Given the description of an element on the screen output the (x, y) to click on. 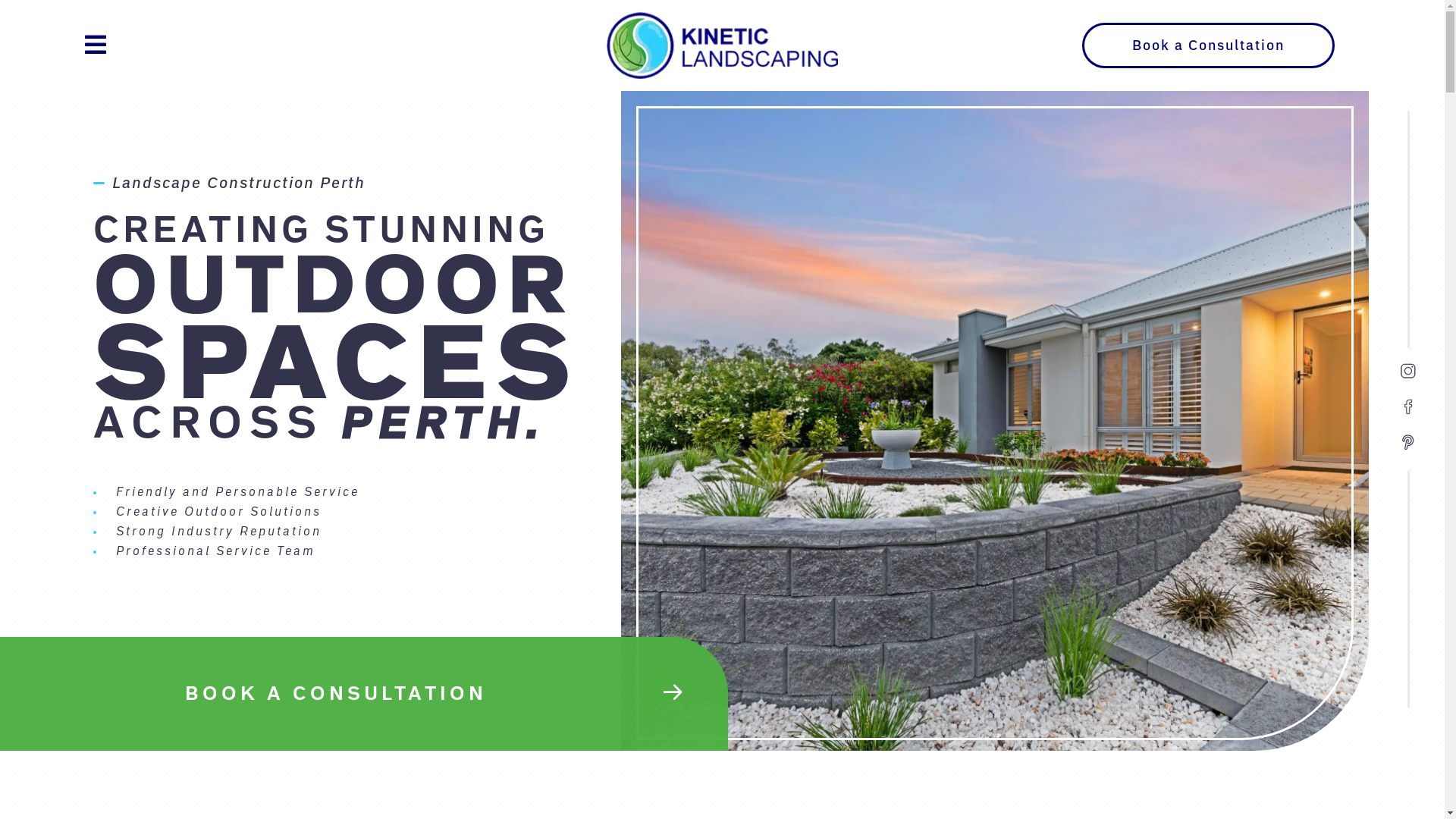
Book a Consultation Element type: text (1208, 45)
BOOK A CONSULTATION Element type: text (363, 693)
